Given the description of an element on the screen output the (x, y) to click on. 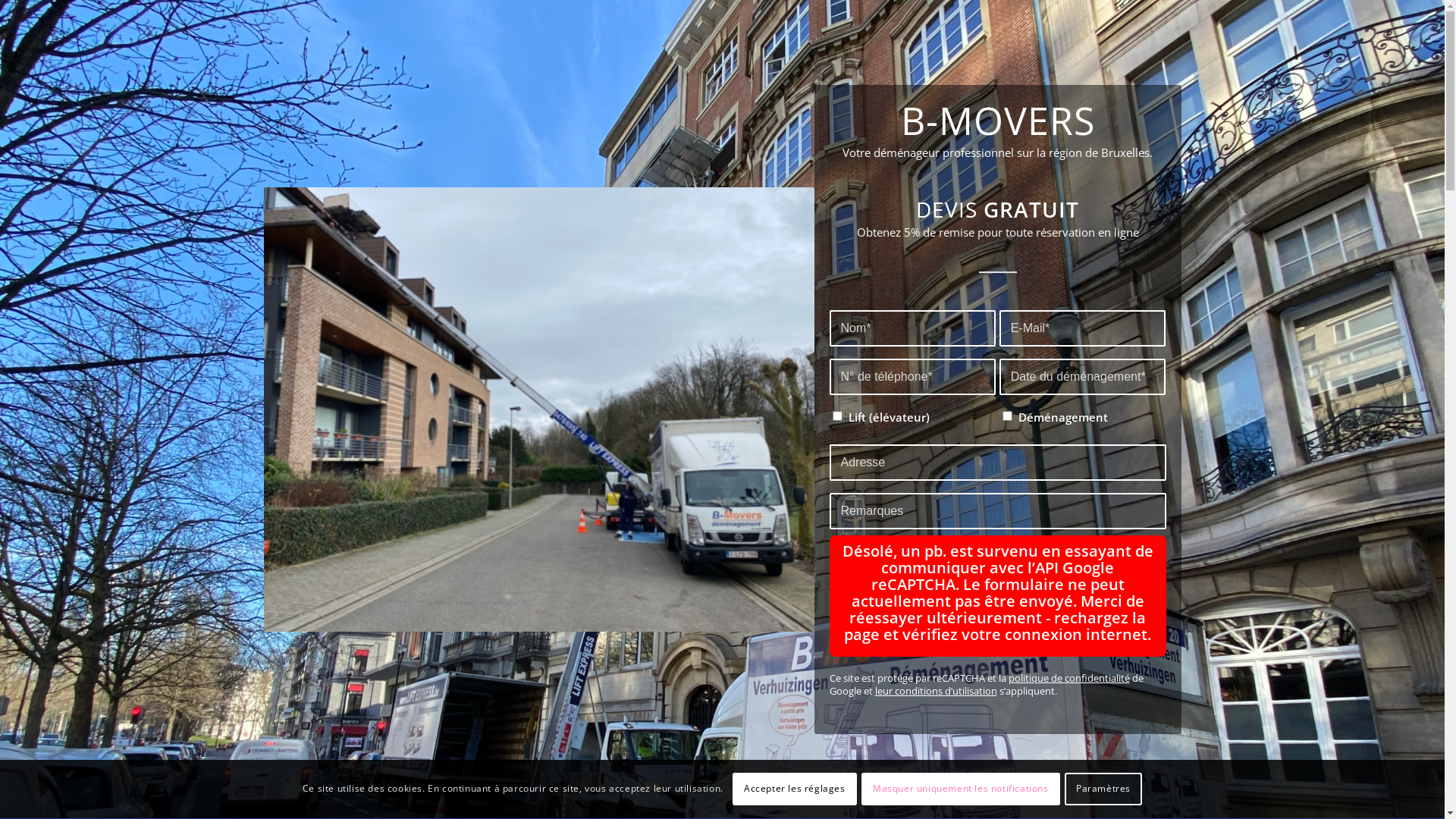
Demenagement avec Lift Bruxelles B-movers Element type: hover (538, 409)
Masquer uniquement les notifications Element type: text (960, 789)
